Given the description of an element on the screen output the (x, y) to click on. 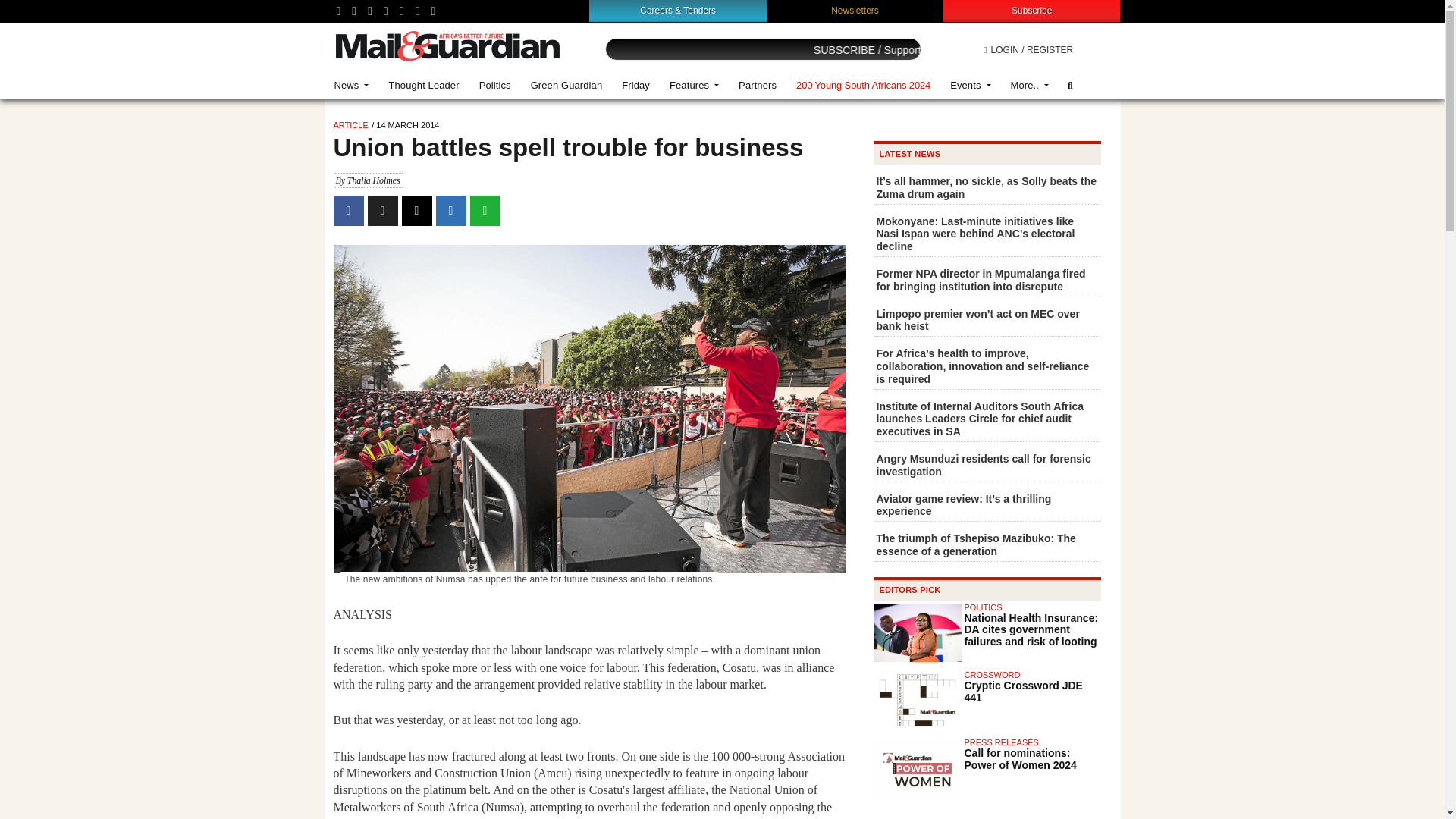
Subscribe (1031, 9)
Newsletters (855, 9)
Friday (635, 85)
News (351, 85)
News (351, 85)
Politics (494, 85)
Thought Leader (423, 85)
Green Guardian (566, 85)
Features (694, 85)
